Given the description of an element on the screen output the (x, y) to click on. 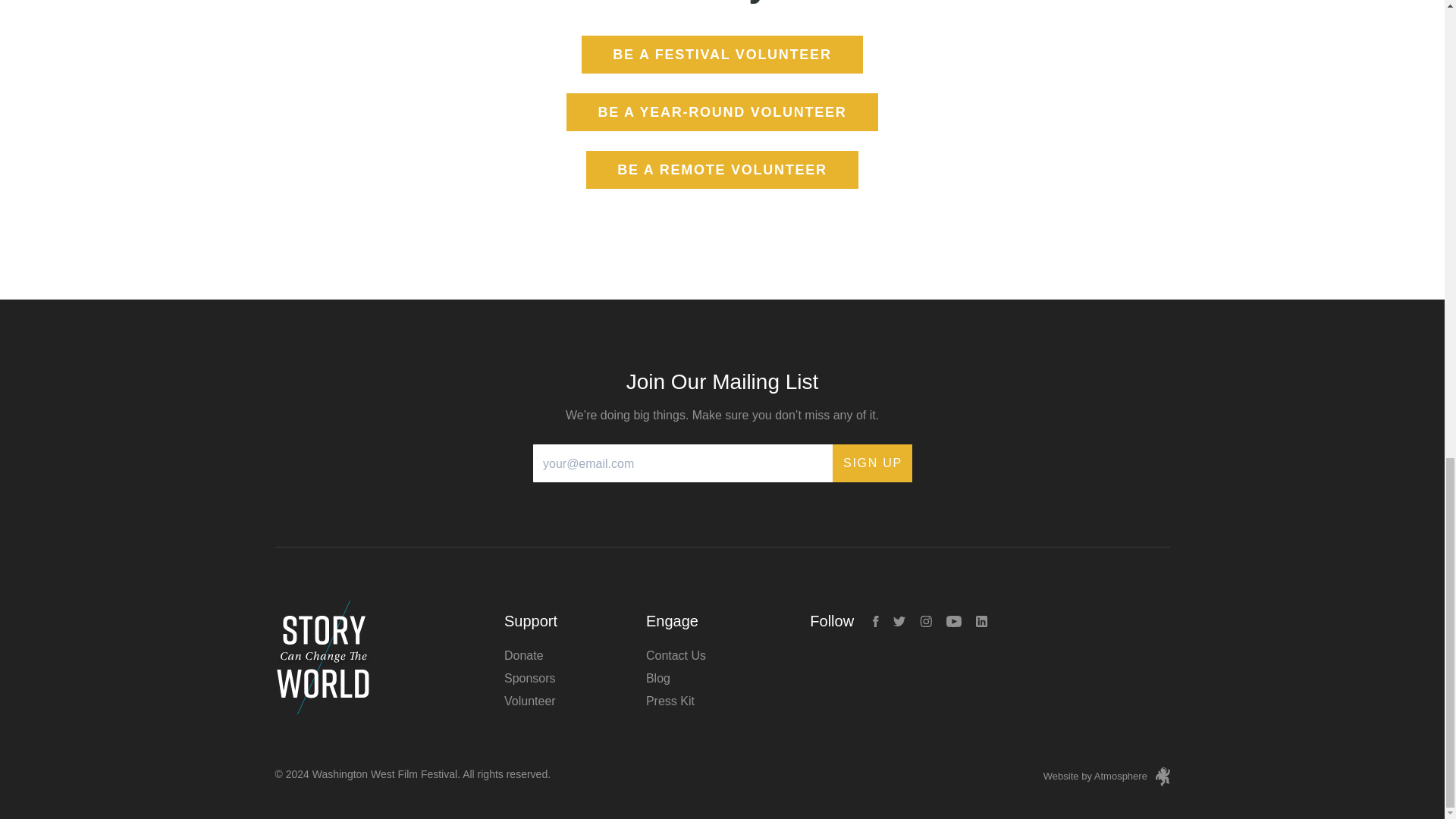
Website by Atmosphere (1106, 776)
Volunteer (529, 700)
SIGN UP (872, 463)
Press Kit (670, 700)
Donate (523, 655)
SIGN UP (872, 463)
Blog (657, 677)
BE A YEAR-ROUND VOLUNTEER (721, 112)
BE A REMOTE VOLUNTEER (721, 169)
Contact Us (676, 655)
BE A FESTIVAL VOLUNTEER (720, 54)
Sponsors (529, 677)
